Given the description of an element on the screen output the (x, y) to click on. 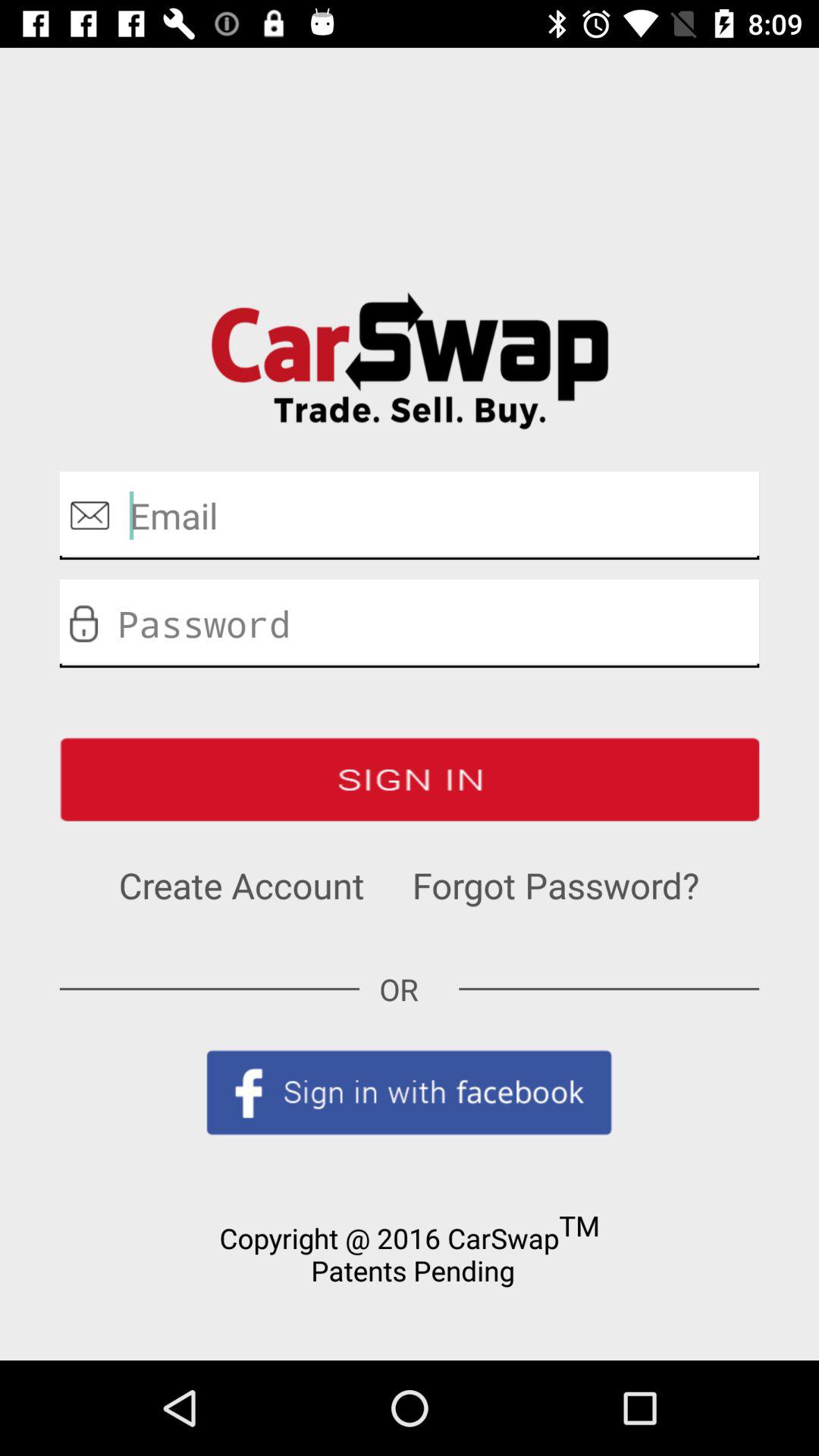
sign in to the account in the application car swap (409, 779)
